Given the description of an element on the screen output the (x, y) to click on. 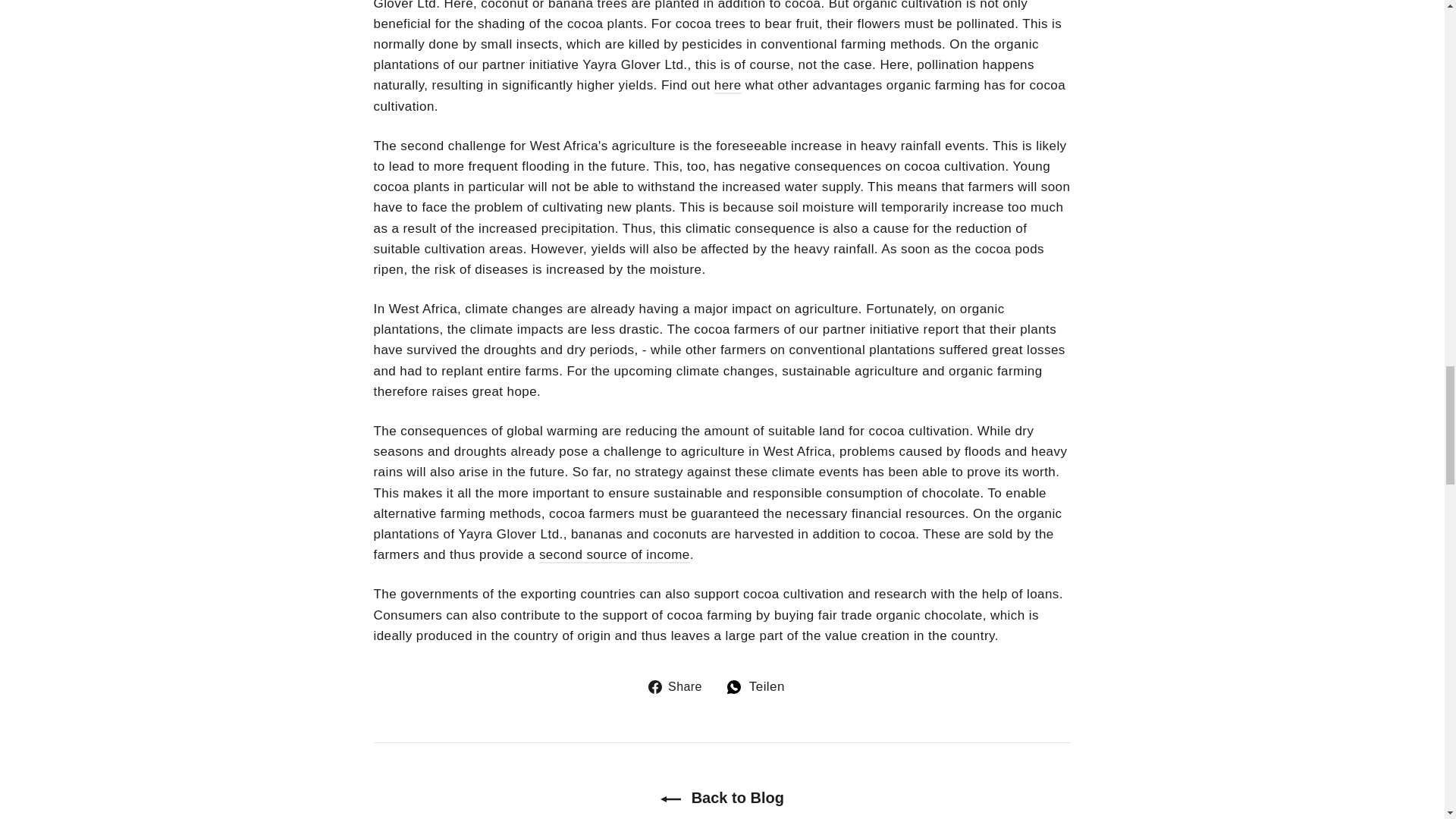
Share on Facebook (680, 686)
